Given the description of an element on the screen output the (x, y) to click on. 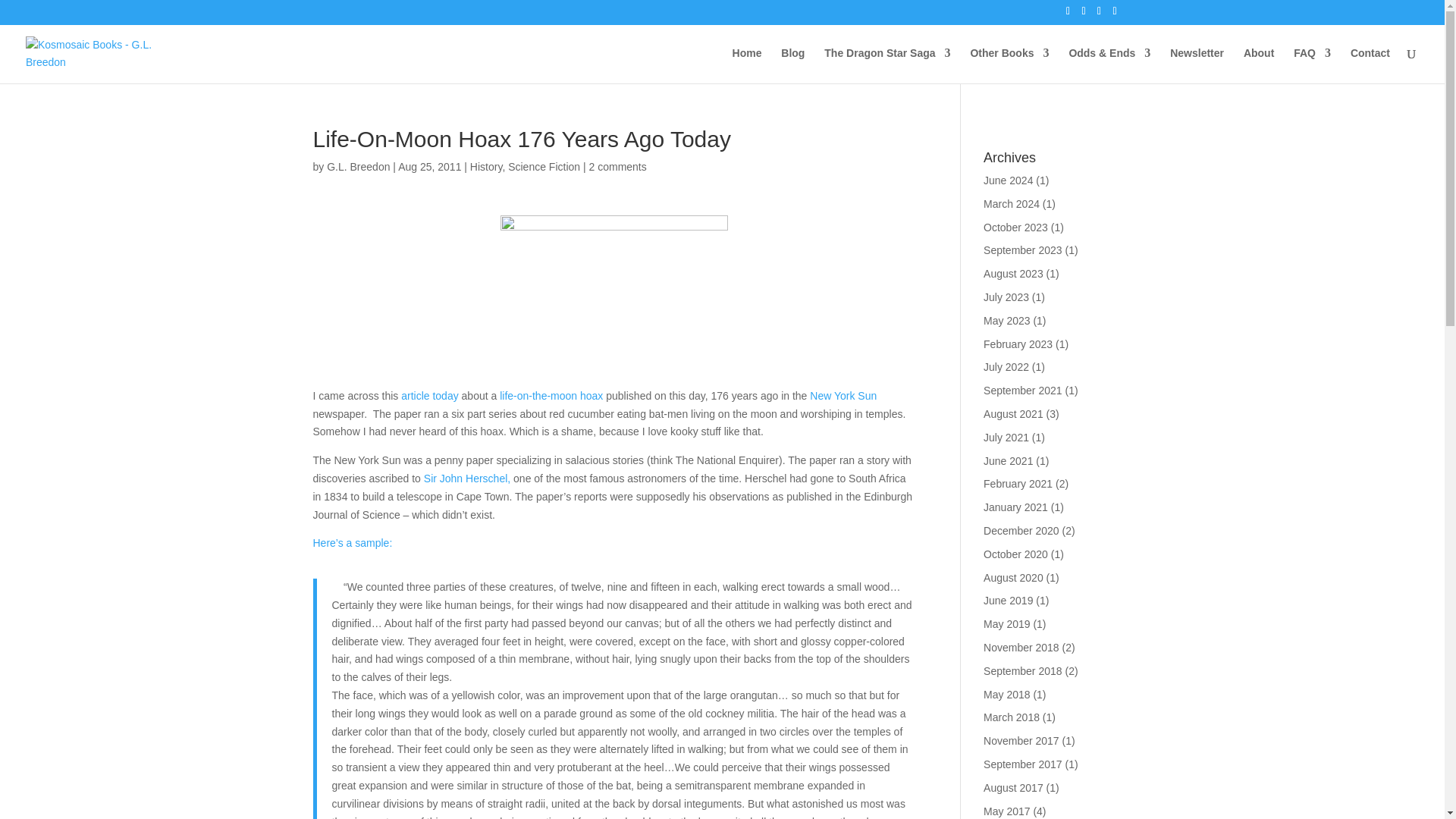
Other Books (1008, 65)
Science Fiction (543, 166)
Moon-Hoax (614, 295)
The Dragon Star Saga (887, 65)
life-on-the-moon hoax (550, 395)
G.L. Breedon (358, 166)
FAQ (1312, 65)
2 comments (617, 166)
Posts by G.L. Breedon (358, 166)
Contact (1370, 65)
